Given the description of an element on the screen output the (x, y) to click on. 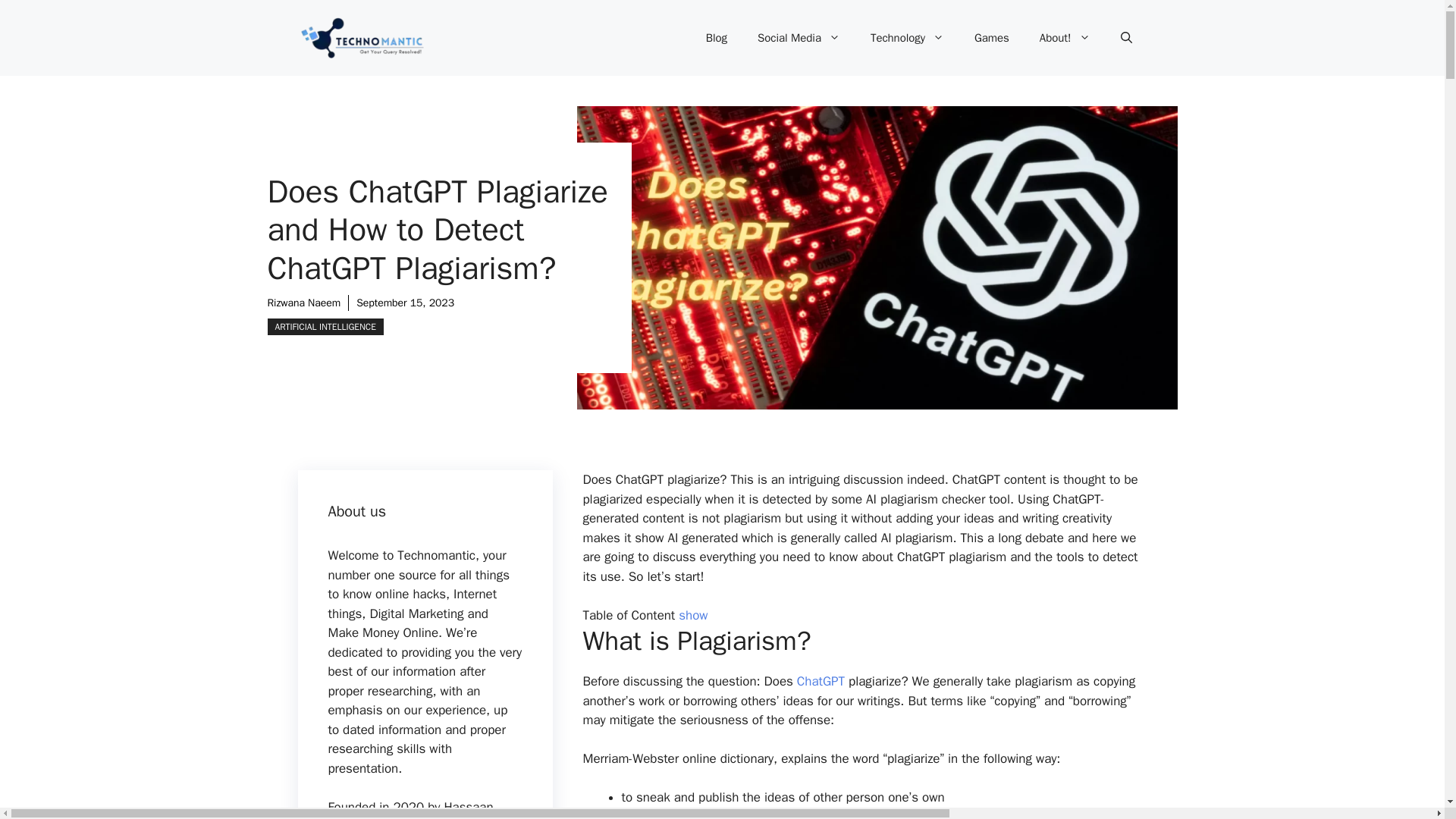
Blog (716, 37)
show (692, 614)
Rizwana Naeem (303, 302)
Social Media (799, 37)
Games (992, 37)
About! (1065, 37)
ARTIFICIAL INTELLIGENCE (324, 326)
Technology (907, 37)
